Given the description of an element on the screen output the (x, y) to click on. 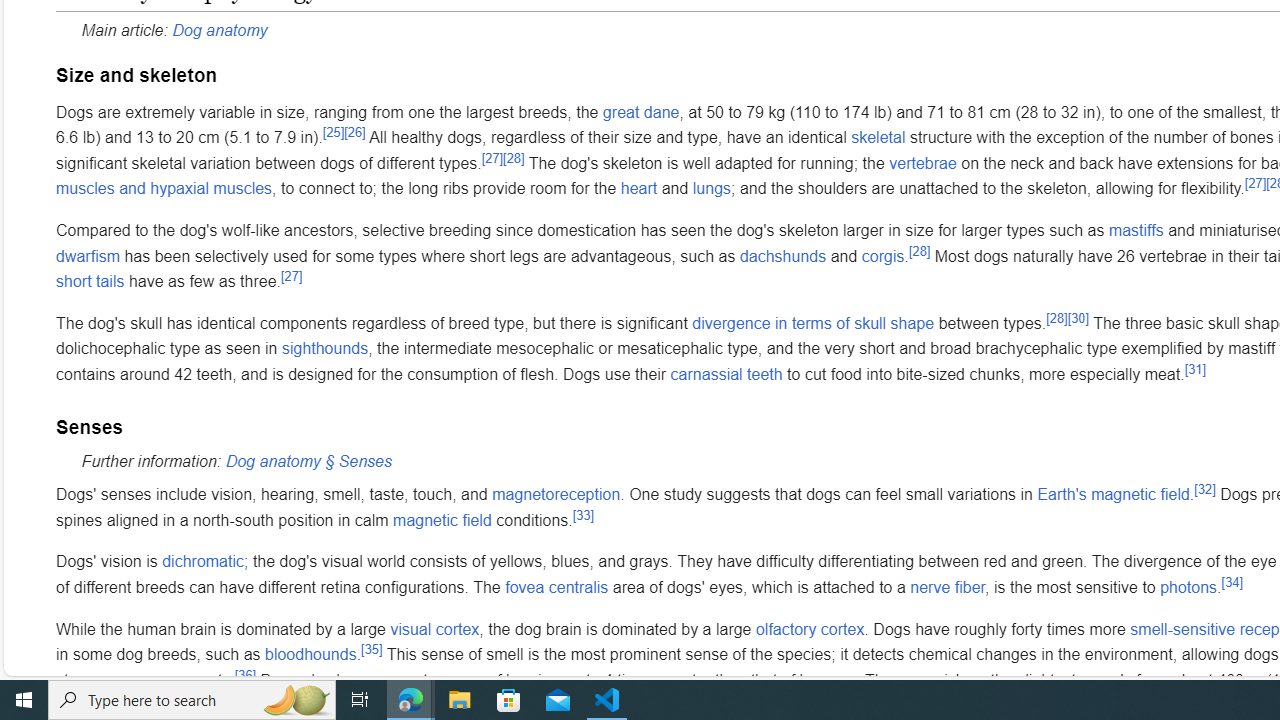
[36] (245, 674)
mastiffs (1135, 230)
vertebrae (923, 163)
[27] (292, 275)
[26] (355, 131)
